Given the description of an element on the screen output the (x, y) to click on. 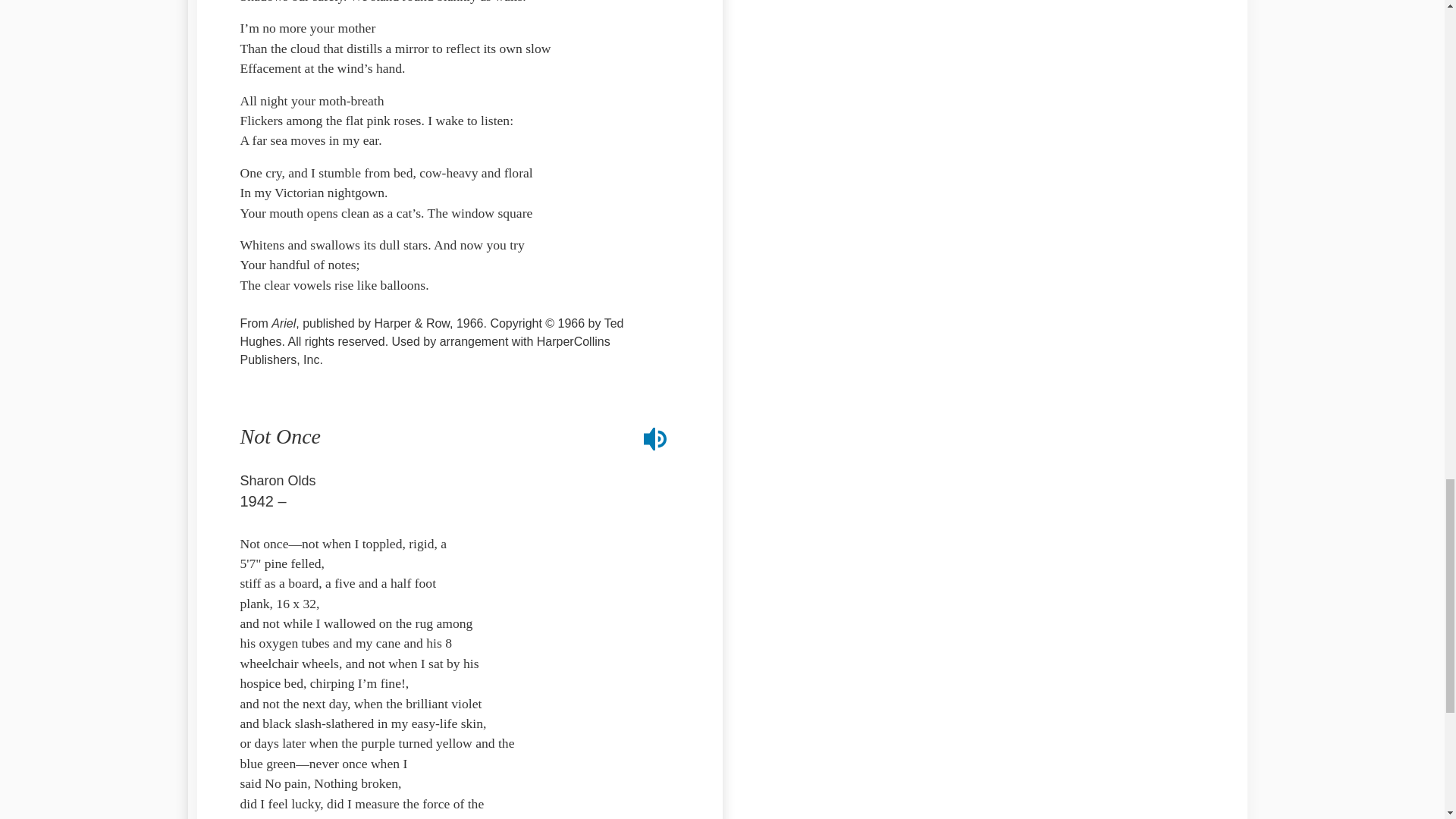
Sharon Olds (277, 479)
Not Once (280, 436)
Load audio player (654, 439)
